Given the description of an element on the screen output the (x, y) to click on. 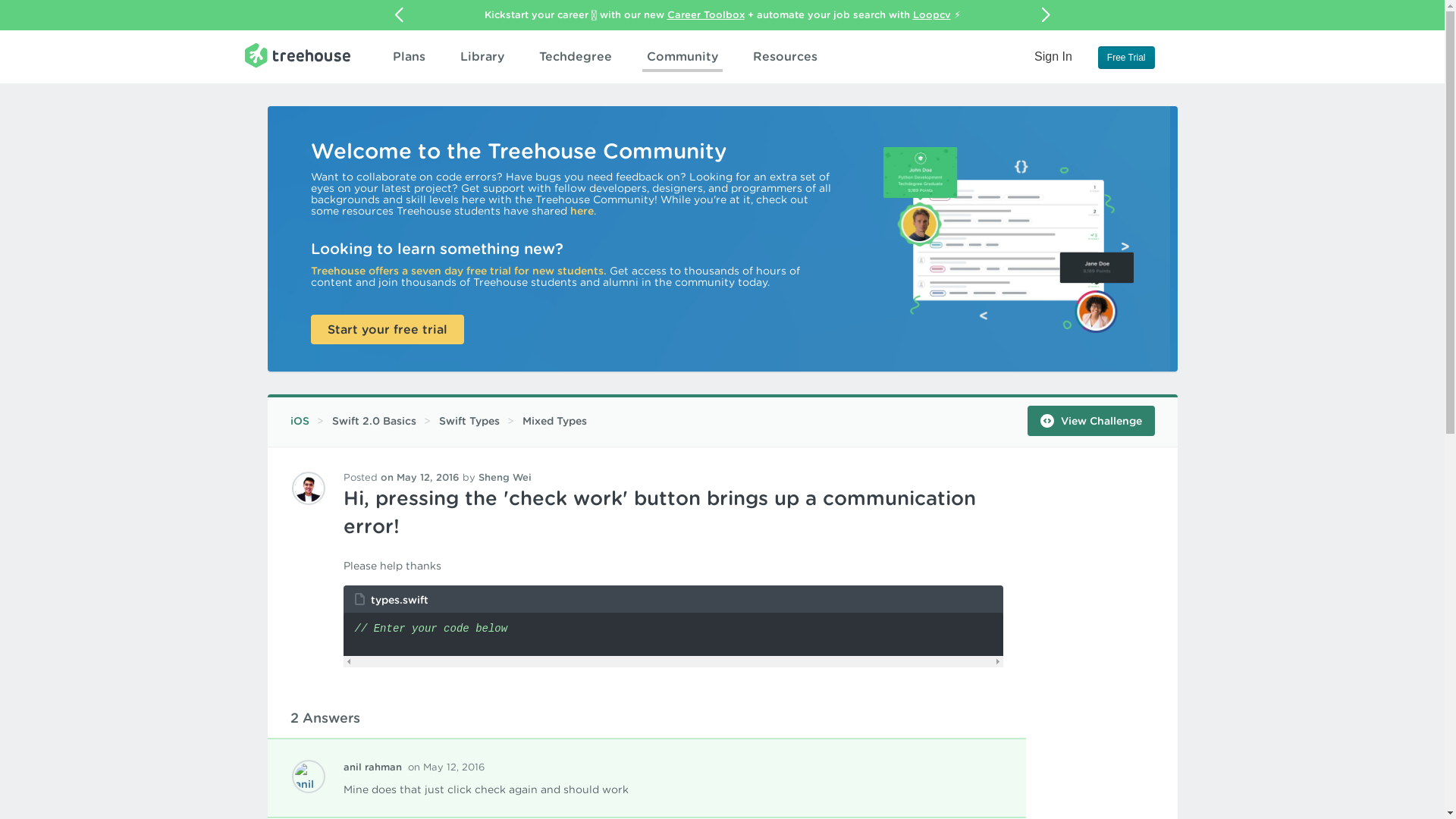
May 12, 2016 at 5:54pm  (445, 767)
Treehouse Logo (296, 55)
Plans (408, 56)
Career Toolbox (705, 14)
Treehouse Logo (296, 55)
May 12, 2016 at 5:51pm  (420, 477)
Loopcv (931, 14)
